Given the description of an element on the screen output the (x, y) to click on. 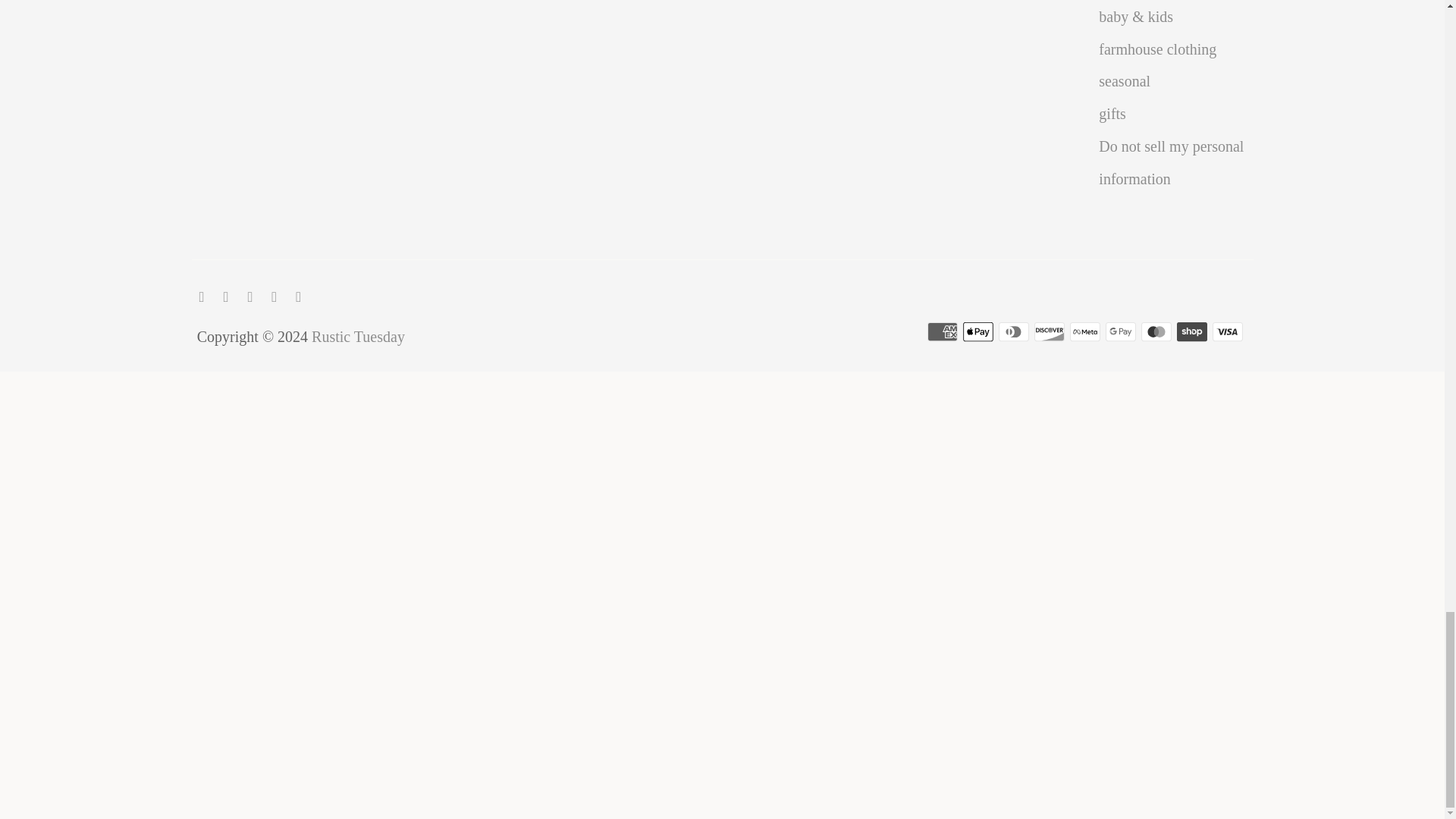
Visa (1227, 331)
Mastercard (1156, 331)
American Express (942, 331)
Discover (1048, 331)
Diners Club (1013, 331)
Shop Pay (1191, 331)
Apple Pay (977, 331)
Google Pay (1120, 331)
Meta Pay (1085, 331)
